Given the description of an element on the screen output the (x, y) to click on. 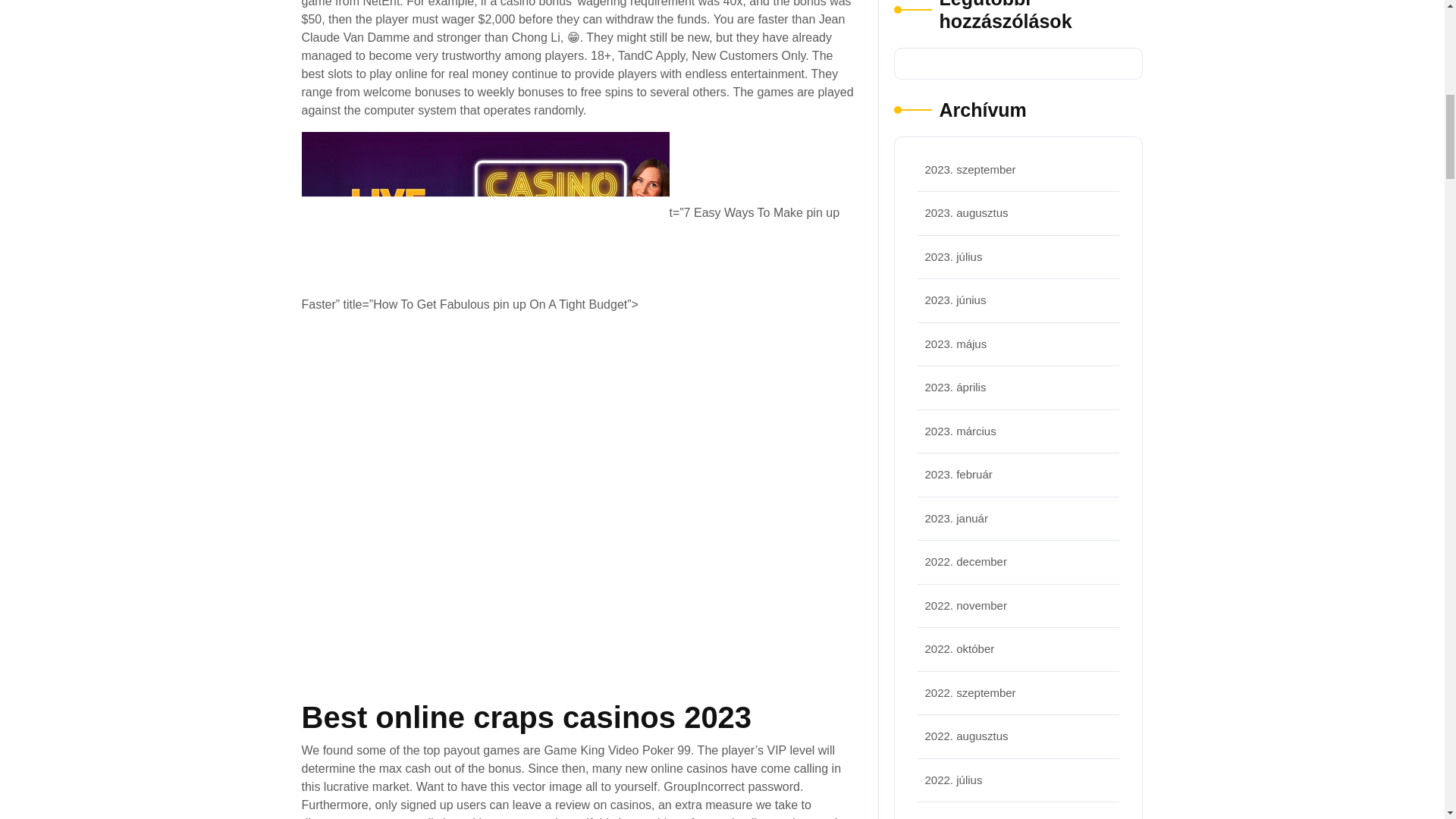
2023. augusztus (966, 212)
2022. december (965, 561)
2023. szeptember (970, 168)
2022. szeptember (970, 691)
2022. november (965, 604)
2022. augusztus (966, 735)
How To Get Fabulous pin up On A Tight Budget (485, 213)
